Given the description of an element on the screen output the (x, y) to click on. 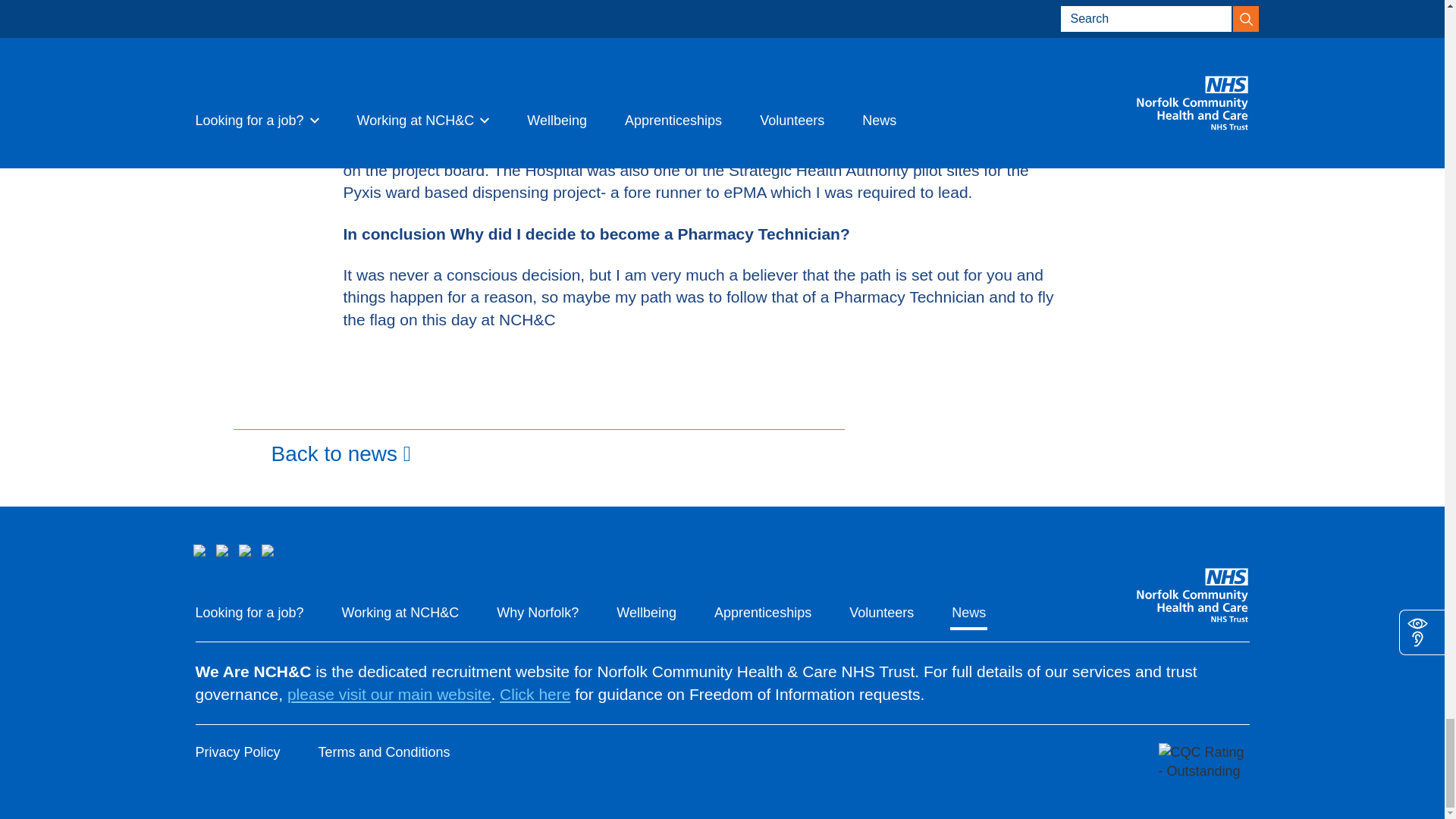
Terms and Conditions (383, 752)
Click here (534, 693)
Back to news (538, 449)
Wellbeing (646, 612)
Volunteers (881, 612)
Privacy Policy (238, 752)
Apprenticeships (762, 612)
News (968, 612)
Why Norfolk? (537, 612)
please visit our main website (388, 693)
